Given the description of an element on the screen output the (x, y) to click on. 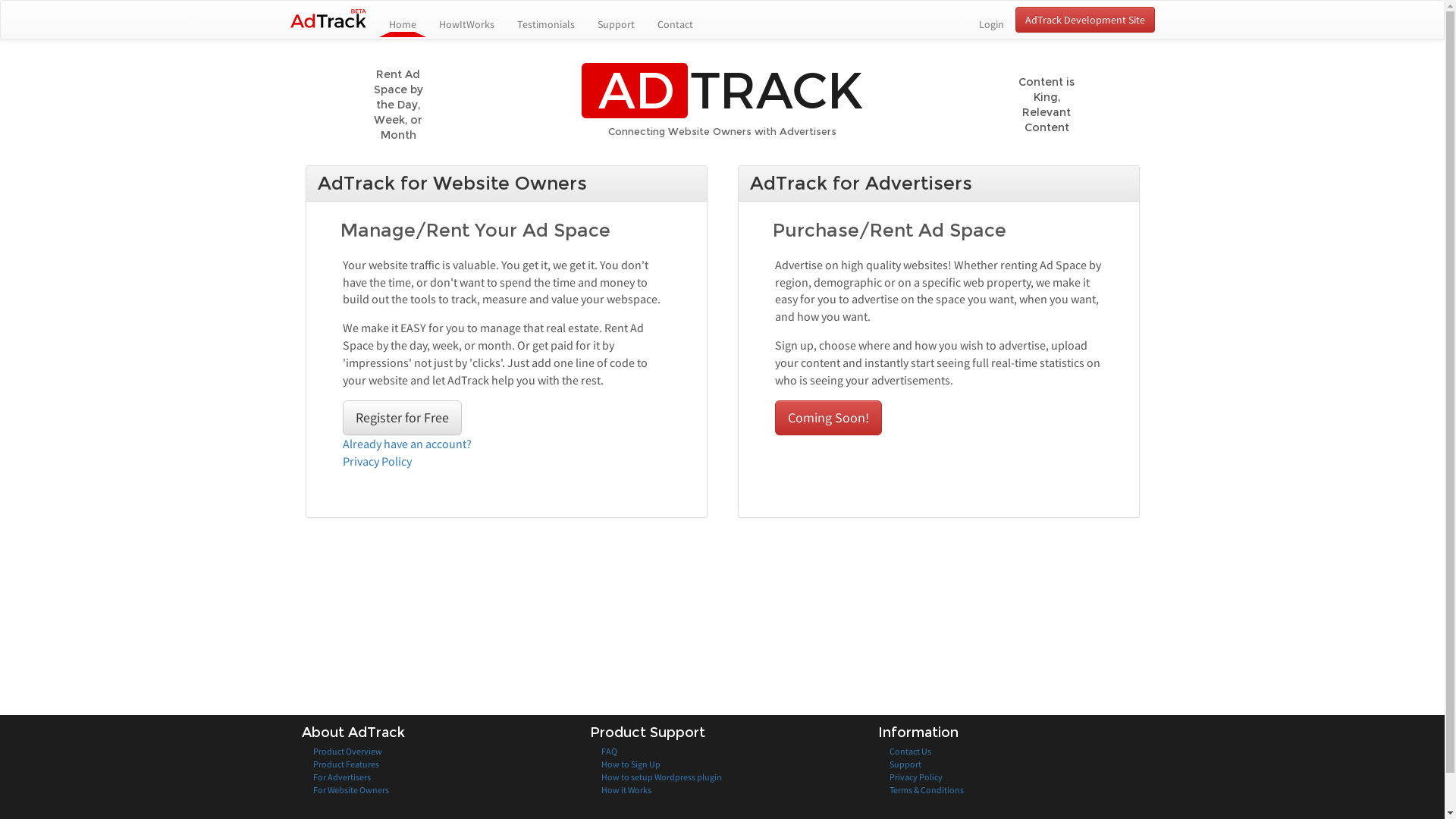
How to setup Wordpress plugin Element type: text (660, 776)
Support Element type: text (615, 15)
Register for Free Element type: text (401, 417)
Product Features Element type: text (345, 763)
Contact Us Element type: text (909, 750)
Testimonials Element type: text (545, 15)
How to Sign Up Element type: text (629, 763)
Privacy Policy Element type: text (376, 460)
Login Element type: text (991, 15)
Contact Element type: text (675, 15)
Coming Soon! Element type: text (828, 417)
Product Overview Element type: text (346, 750)
HowItWorks Element type: text (466, 15)
Support Element type: text (904, 763)
How it Works Element type: text (625, 789)
For Website Owners Element type: text (350, 789)
FAQ Element type: text (608, 750)
For Advertisers Element type: text (341, 776)
Privacy Policy Element type: text (914, 776)
Terms & Conditions Element type: text (925, 789)
Home
(current) Element type: text (402, 15)
Already have an account? Element type: text (406, 443)
